Given the description of an element on the screen output the (x, y) to click on. 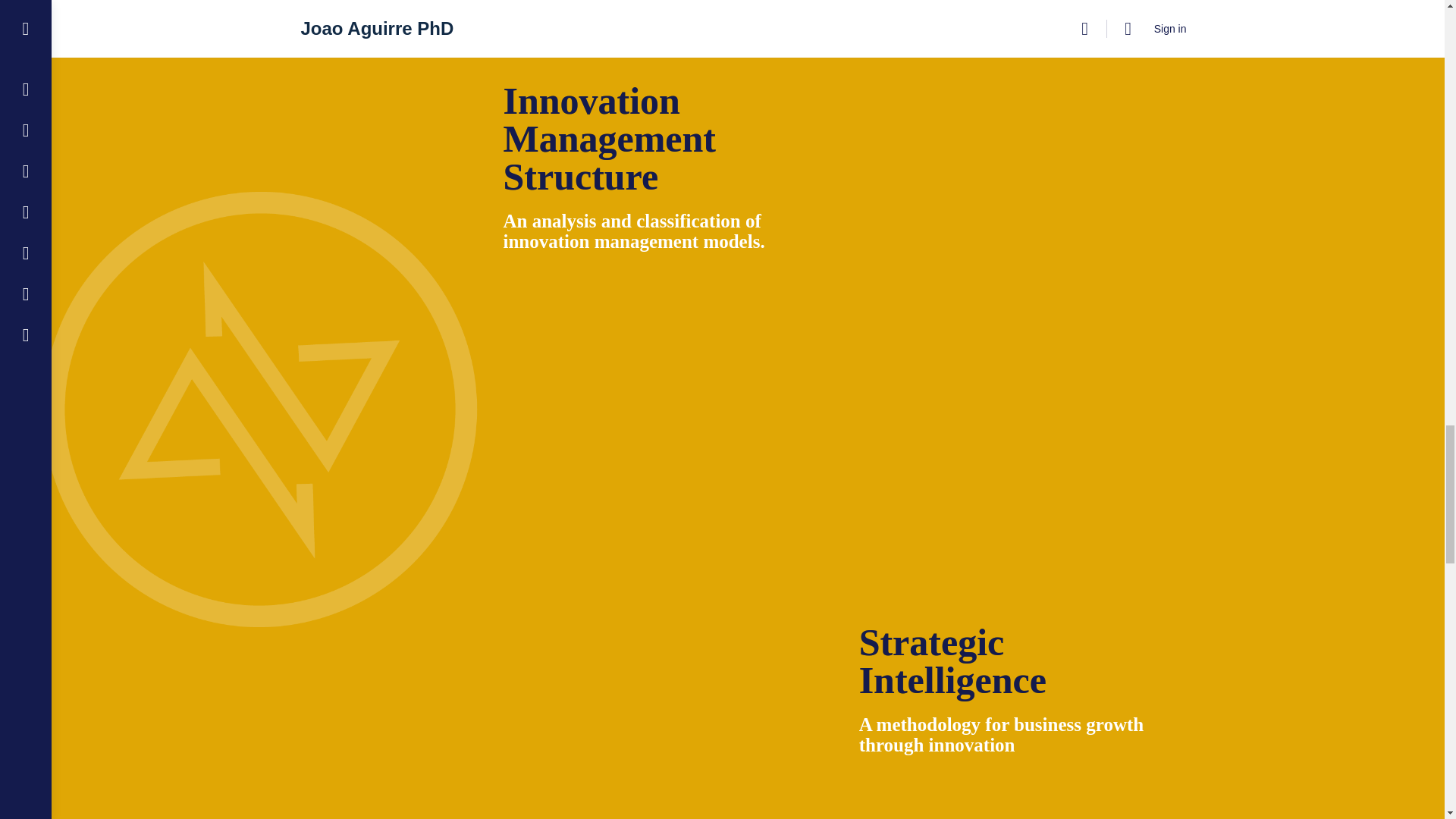
Page 1 (657, 230)
Page 1 (1014, 734)
